Given the description of an element on the screen output the (x, y) to click on. 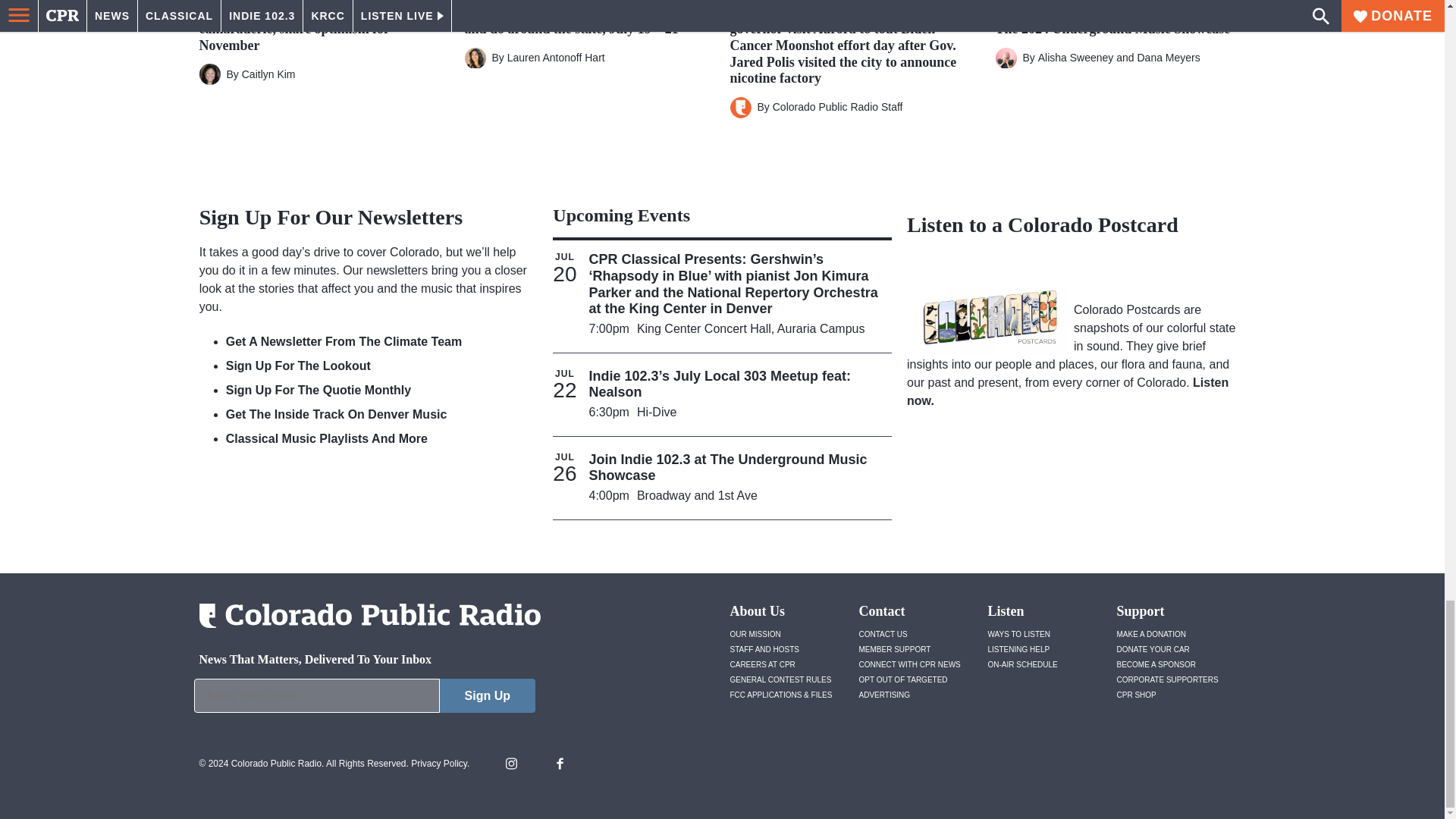
footer (364, 699)
